Given the description of an element on the screen output the (x, y) to click on. 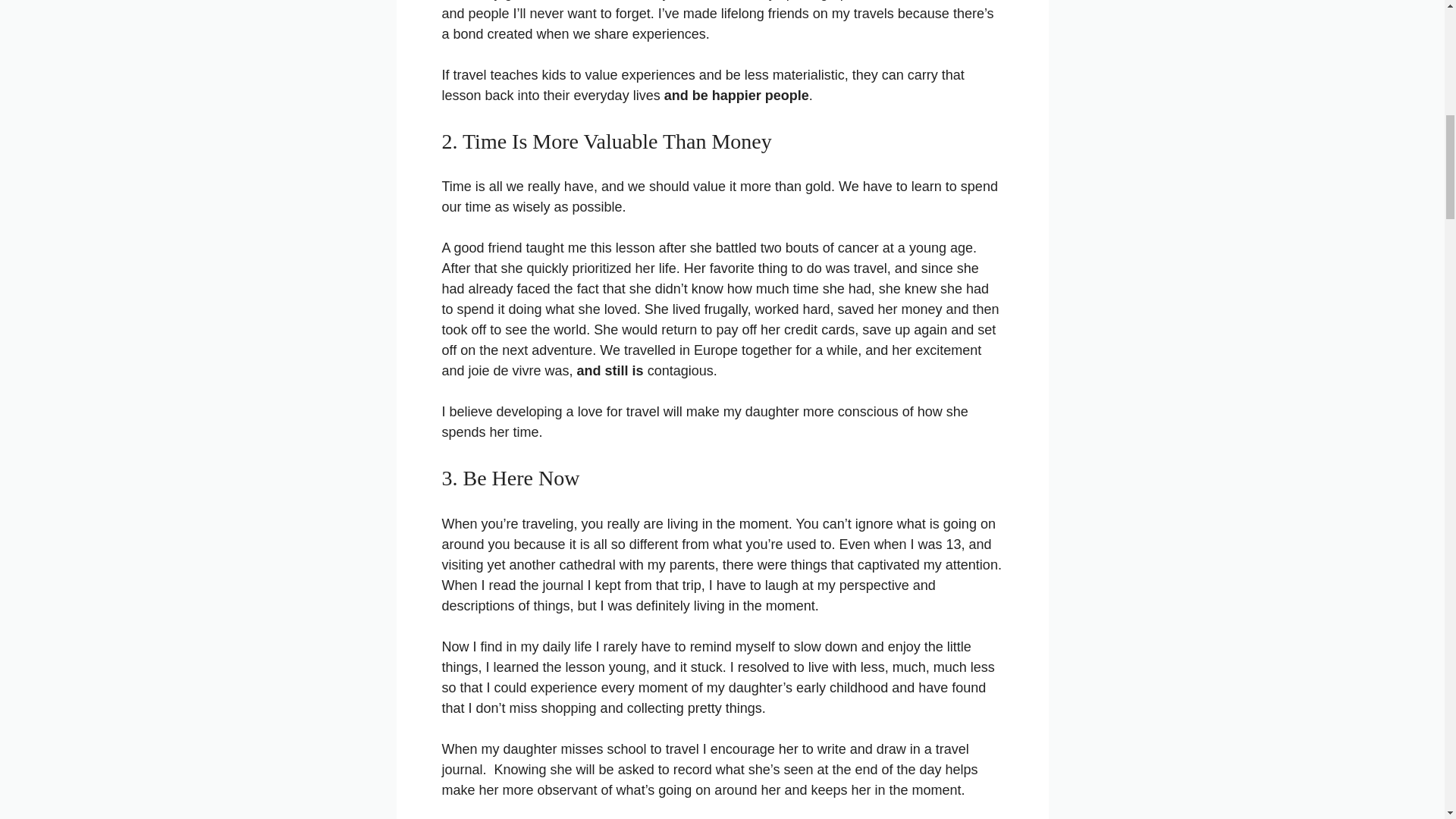
Scroll back to top (1406, 720)
